Given the description of an element on the screen output the (x, y) to click on. 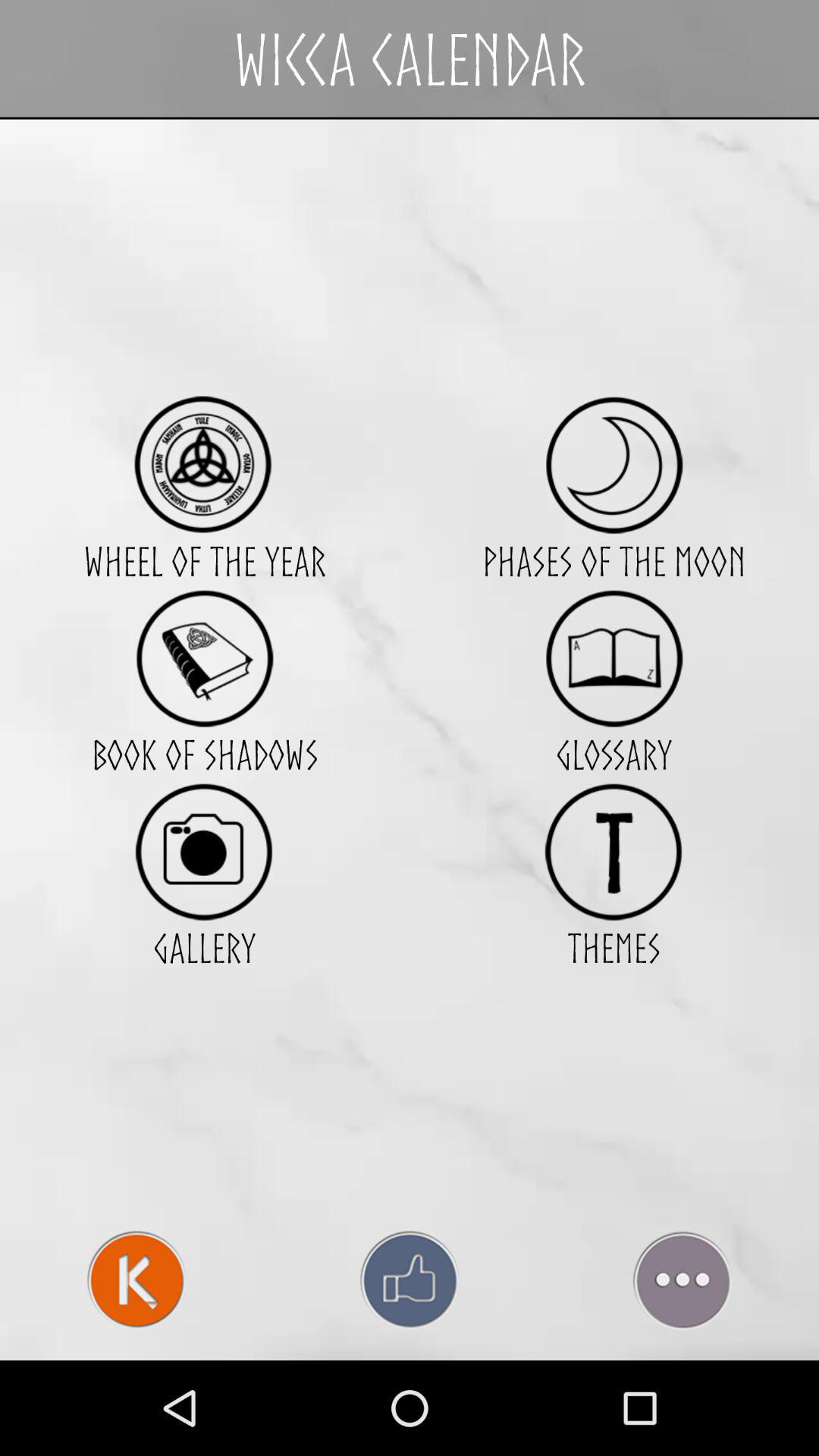
icon (204, 464)
